Given the description of an element on the screen output the (x, y) to click on. 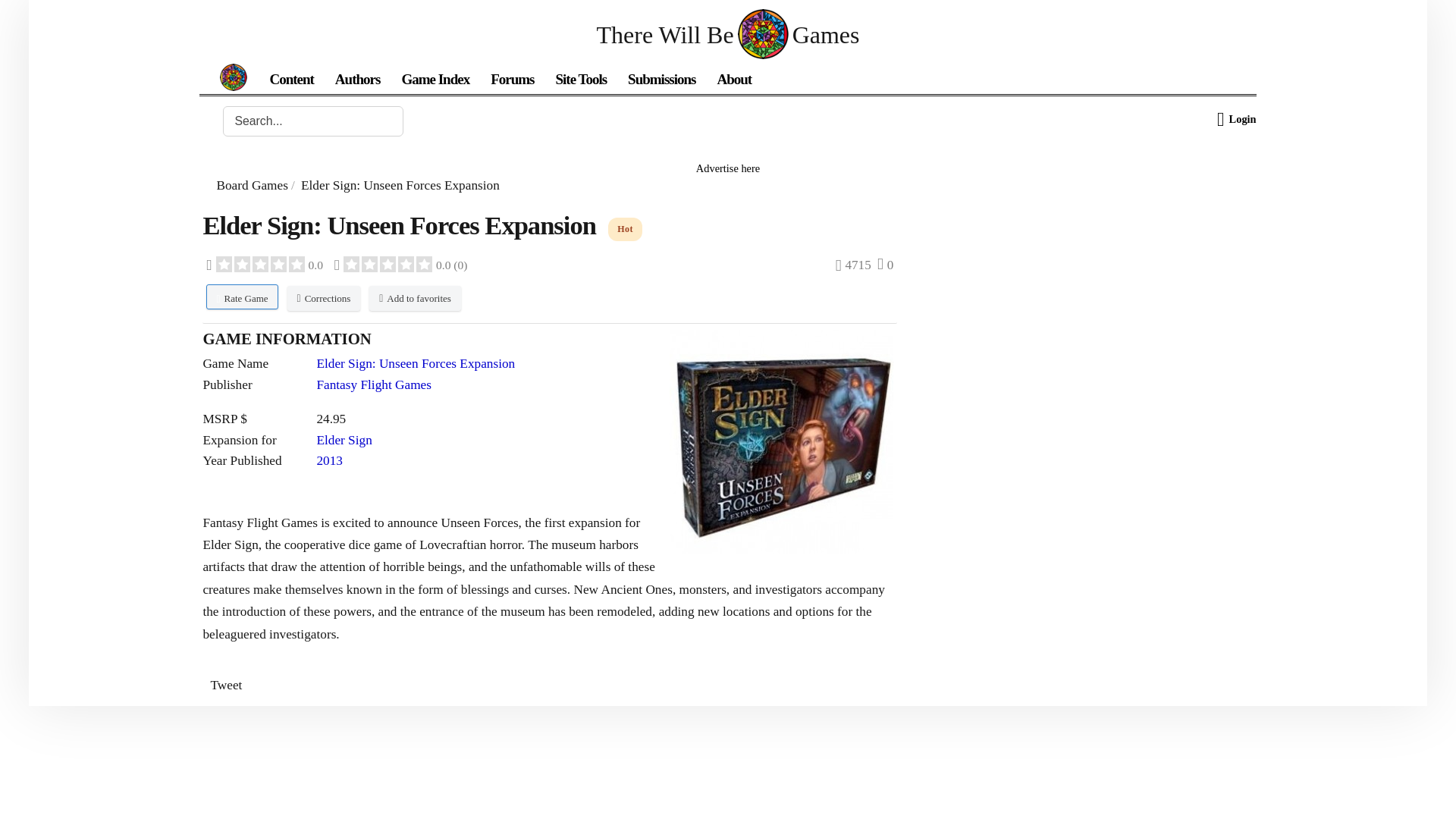
Editor rating (264, 264)
Elder Sign: Unseen Forces (781, 441)
Favorite count (885, 264)
User rating (400, 264)
Elder Sign: Unseen Forces Expansion (782, 441)
Views (852, 264)
